Given the description of an element on the screen output the (x, y) to click on. 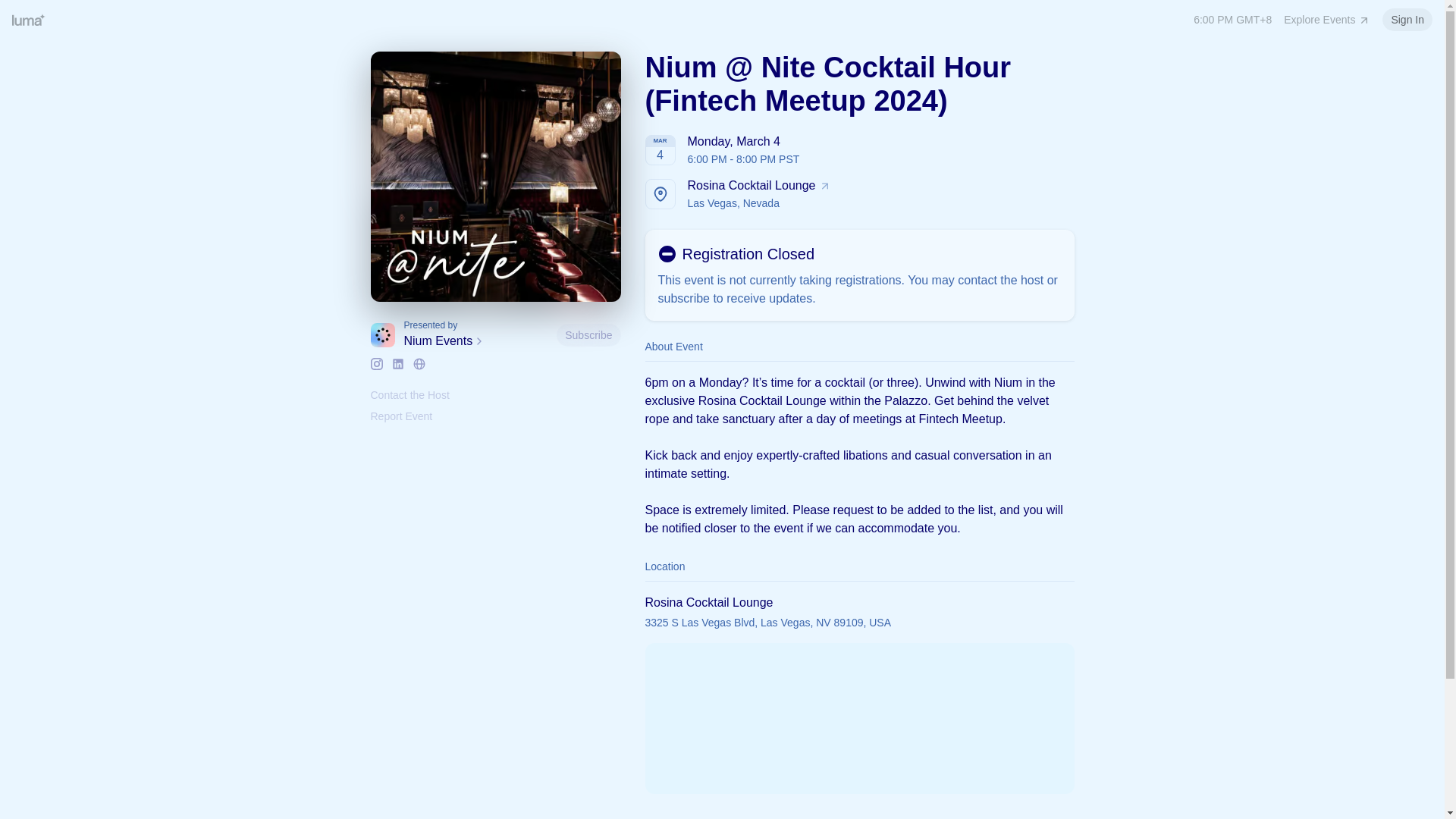
Explore Events (859, 193)
Sign In (1327, 19)
Contact the Host (1406, 19)
Subscribe (408, 394)
Nium Events (588, 334)
Report Event (476, 341)
